Given the description of an element on the screen output the (x, y) to click on. 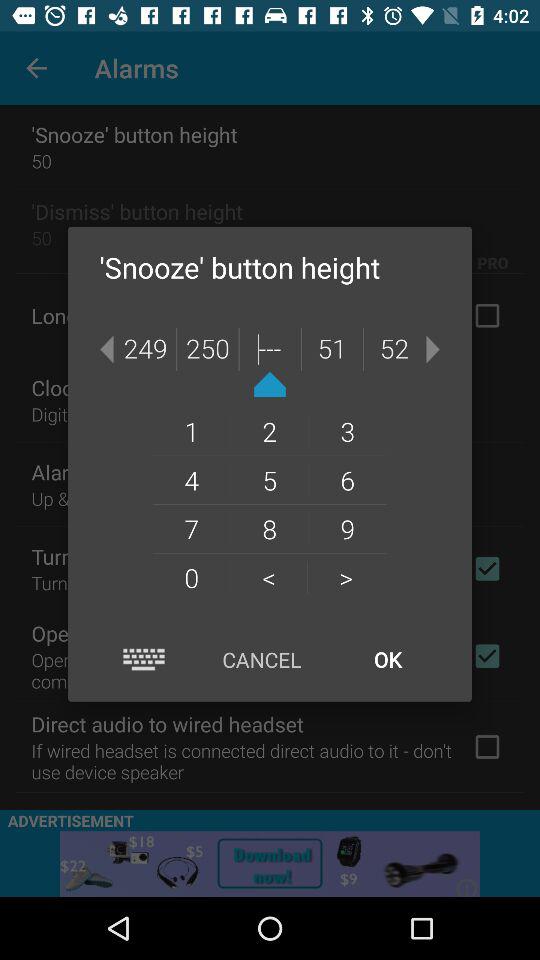
press the item above cancel item (268, 577)
